Given the description of an element on the screen output the (x, y) to click on. 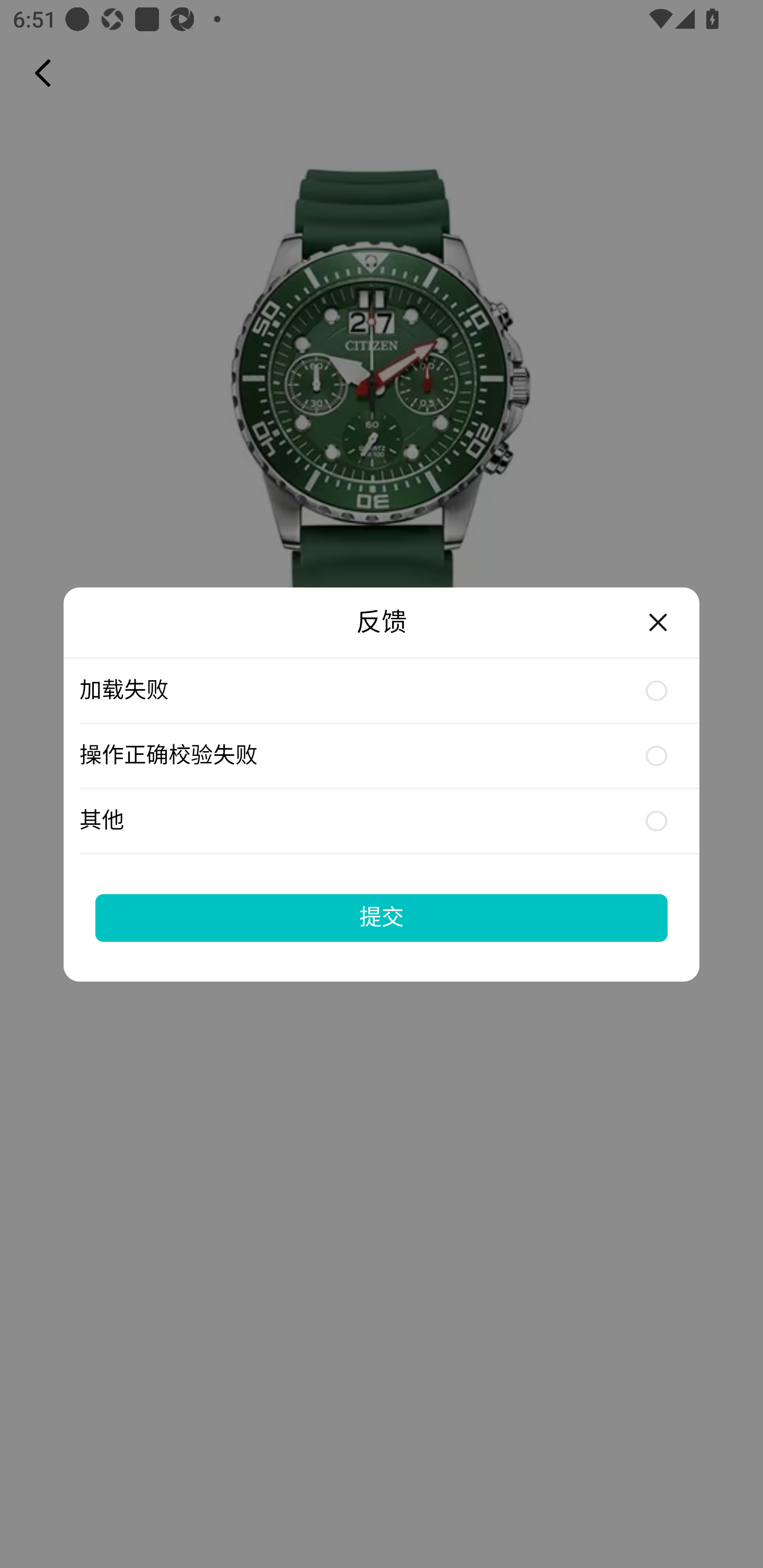
提交 (381, 917)
